Given the description of an element on the screen output the (x, y) to click on. 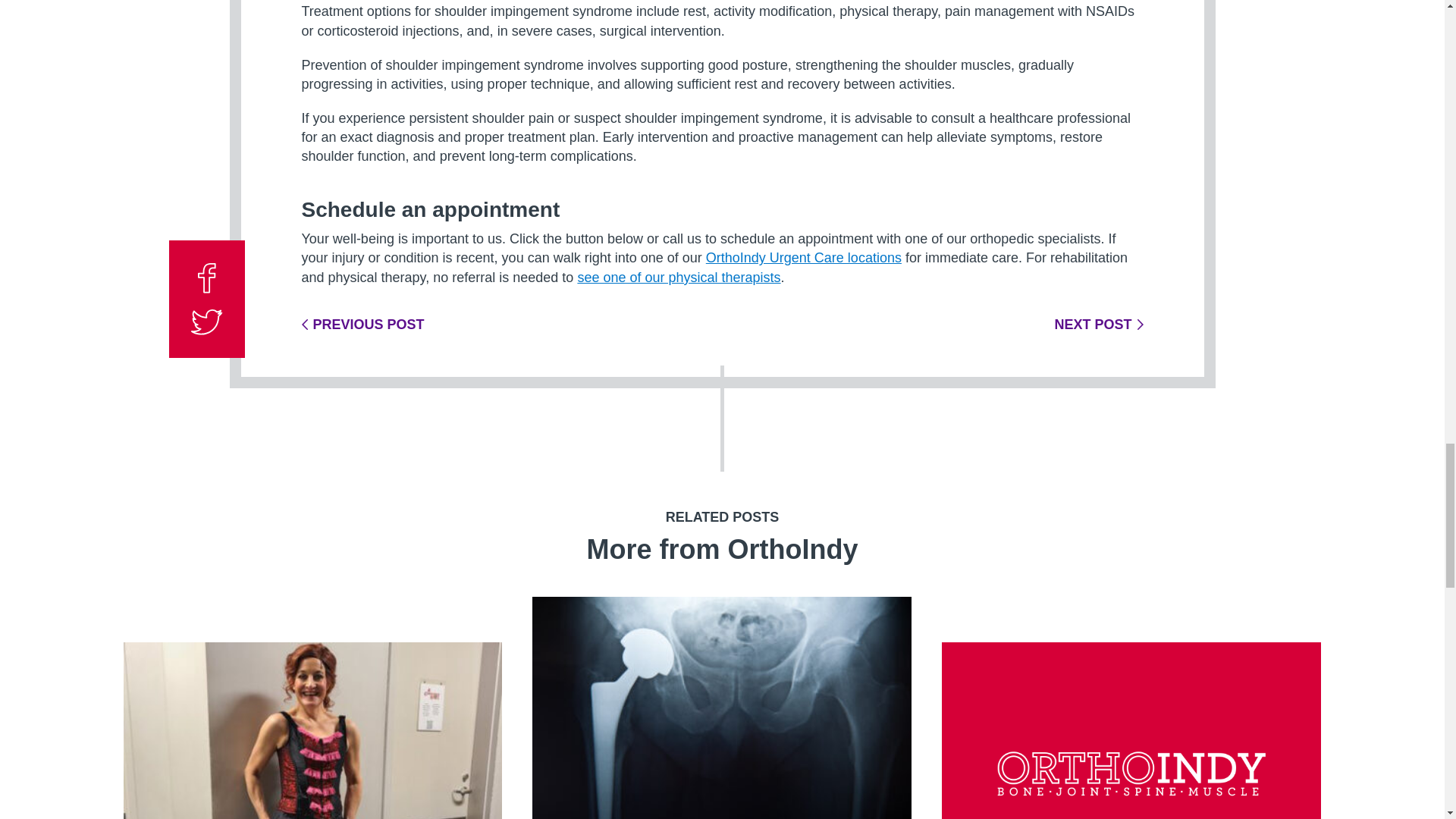
OrthoIndy Urgent Care locations (803, 257)
PREVIOUS POST (363, 324)
NEXT POST (1098, 324)
see one of our physical therapists (678, 277)
Rheumatoid Arthritis Patient Finally Gets the Help She Needs (721, 708)
